Given the description of an element on the screen output the (x, y) to click on. 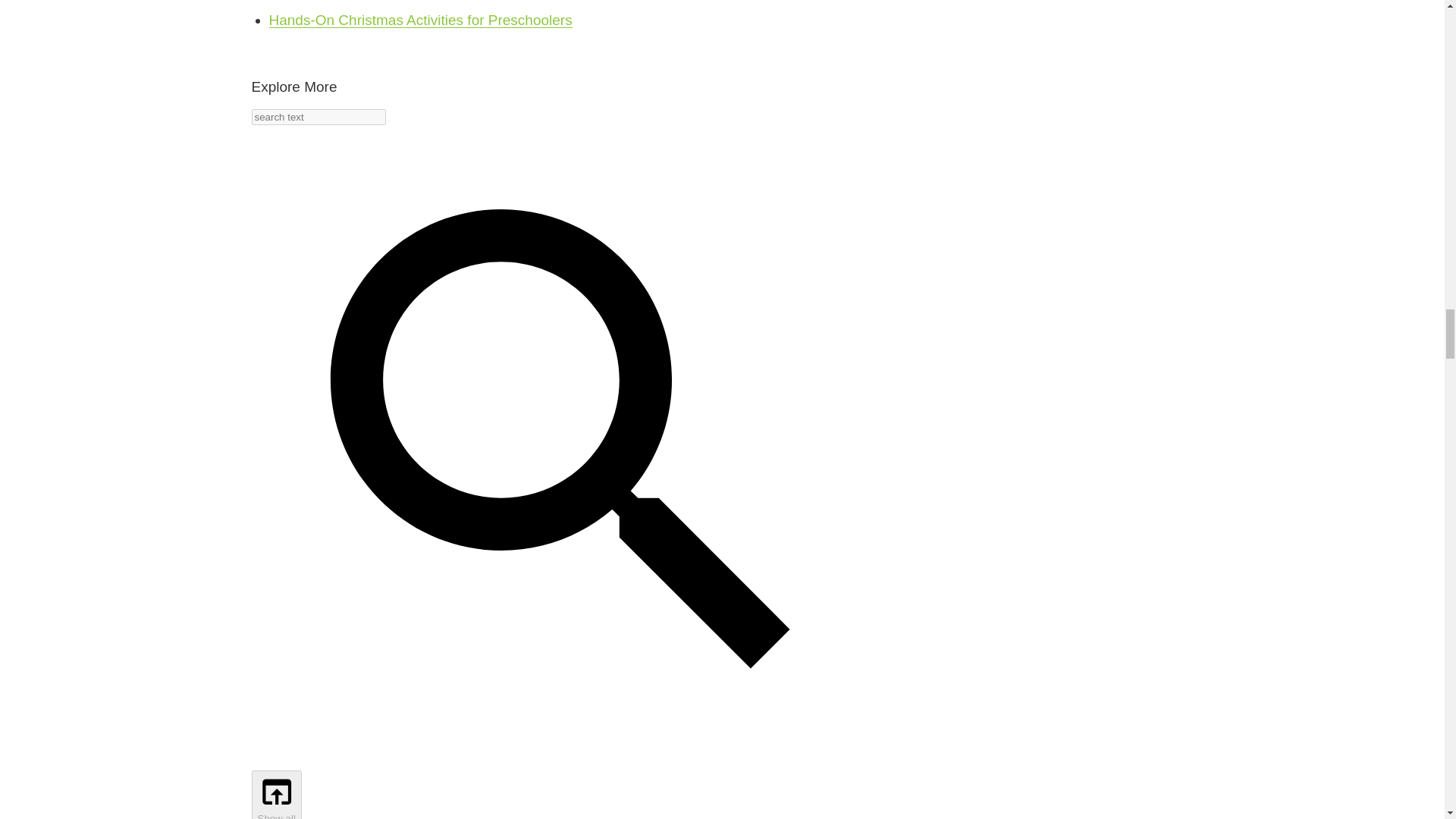
Hands-On Christmas Activities for Preschoolers (419, 19)
